Given the description of an element on the screen output the (x, y) to click on. 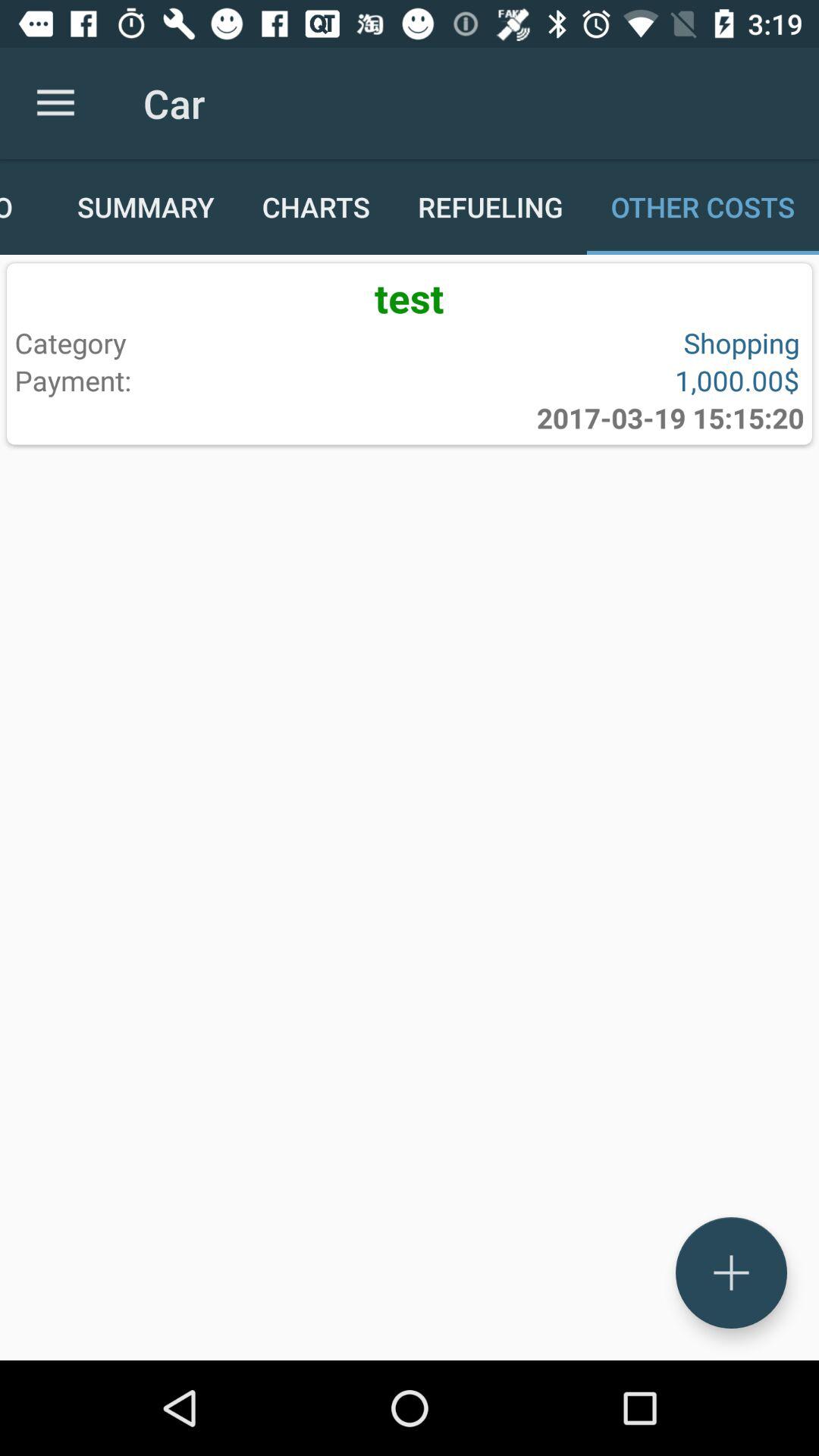
click item below the test item (208, 342)
